Given the description of an element on the screen output the (x, y) to click on. 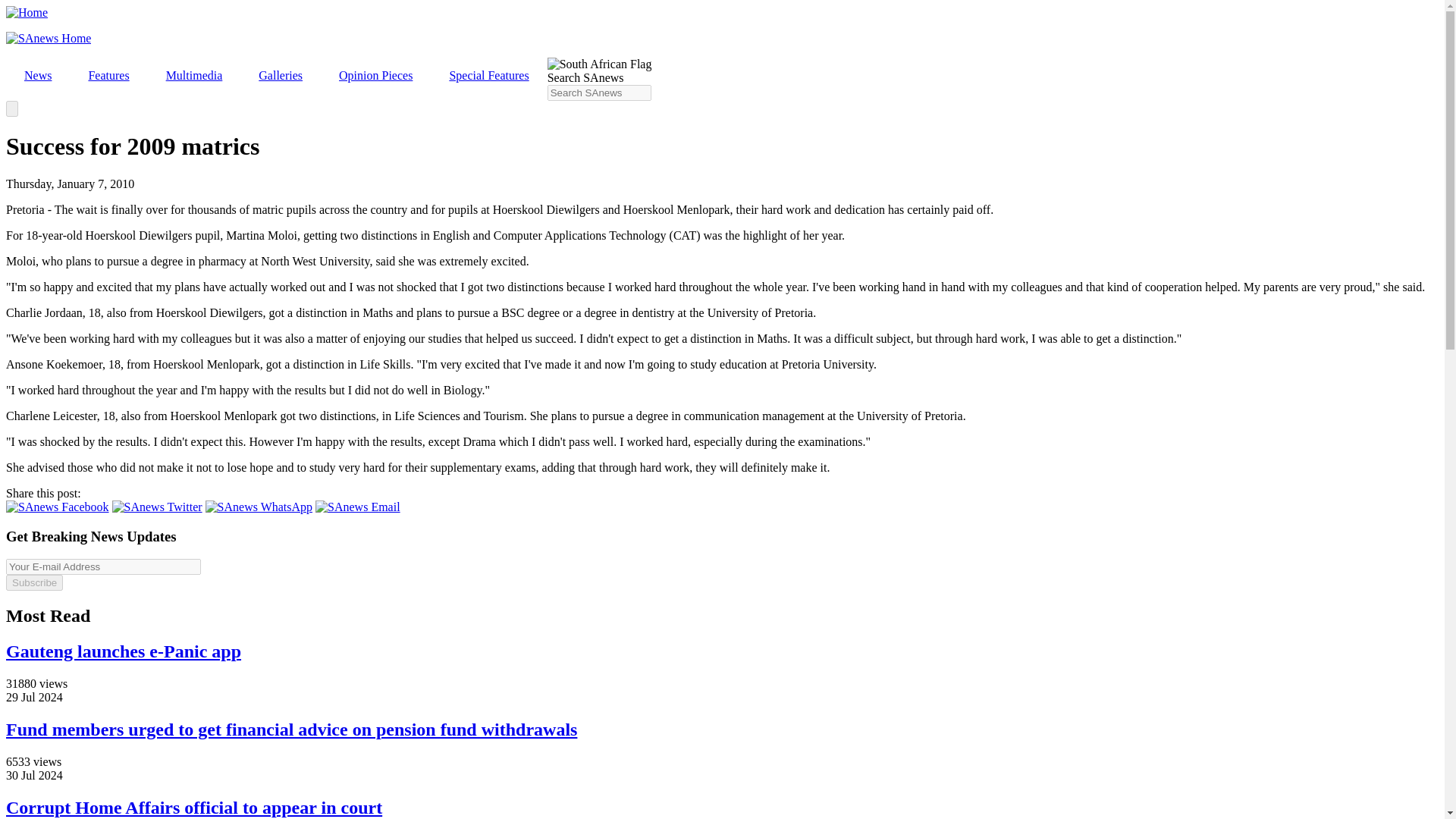
Share on WhatsApp (259, 506)
Share on Facebook (57, 506)
Galleries (280, 75)
Multimedia (194, 75)
Opinion Pieces (375, 75)
Corrupt Home Affairs official to appear in court (193, 807)
Enter the terms you wish to search for. (598, 92)
Features (108, 75)
Special Features (488, 75)
Gauteng launches e-Panic app (123, 650)
Home (26, 11)
News (37, 75)
Subscribe (33, 582)
